Given the description of an element on the screen output the (x, y) to click on. 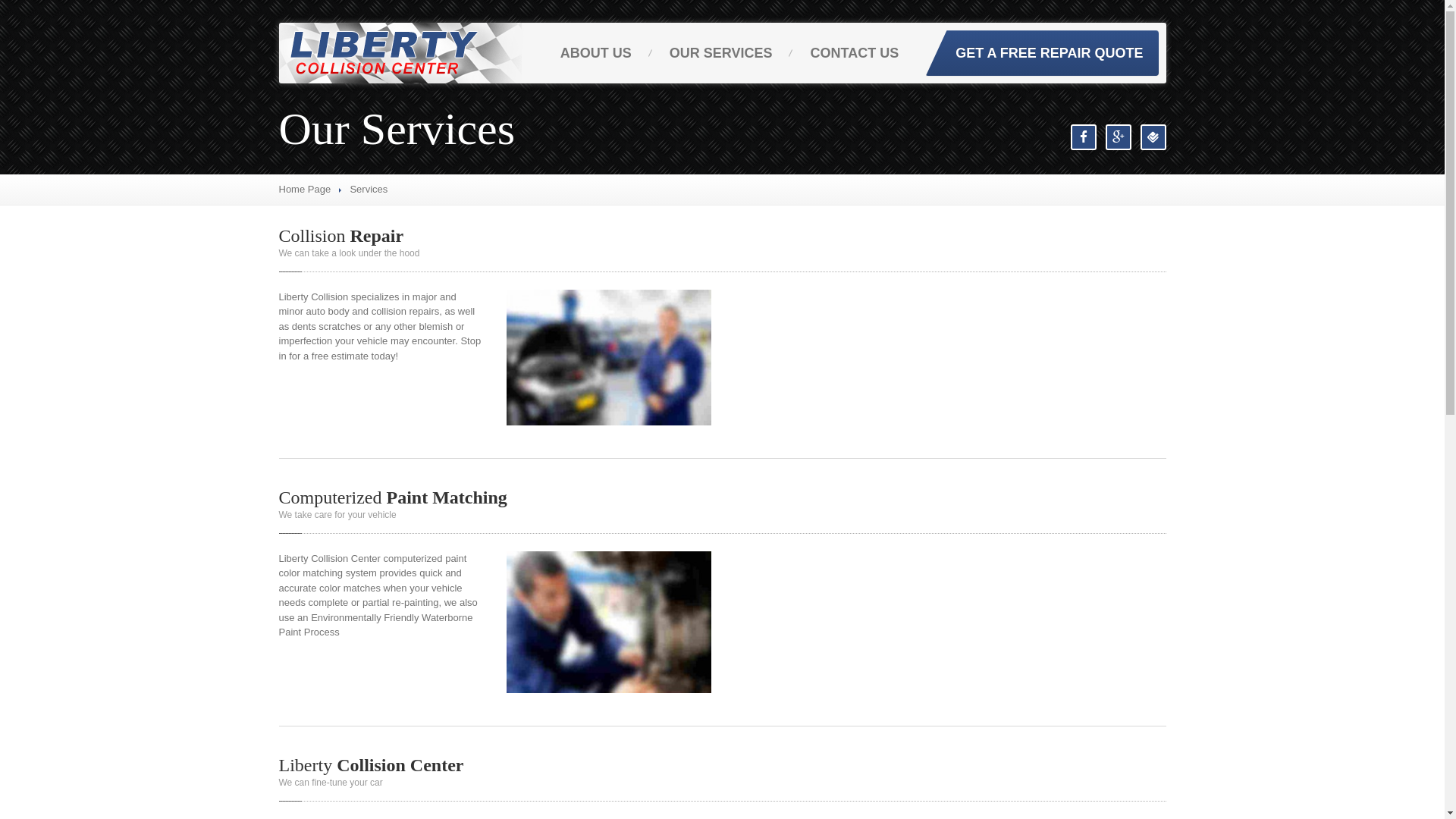
GET A FREE REPAIR QUOTE Element type: text (1041, 52)
Collision Repair Element type: text (341, 235)
Computerized Paint Matching Element type: text (393, 497)
ABOUT US Element type: text (595, 52)
Home Page Element type: text (305, 188)
OUR SERVICES Element type: text (720, 52)
CONTACT US Element type: text (853, 52)
Liberty Collision Center Element type: text (371, 765)
